Given the description of an element on the screen output the (x, y) to click on. 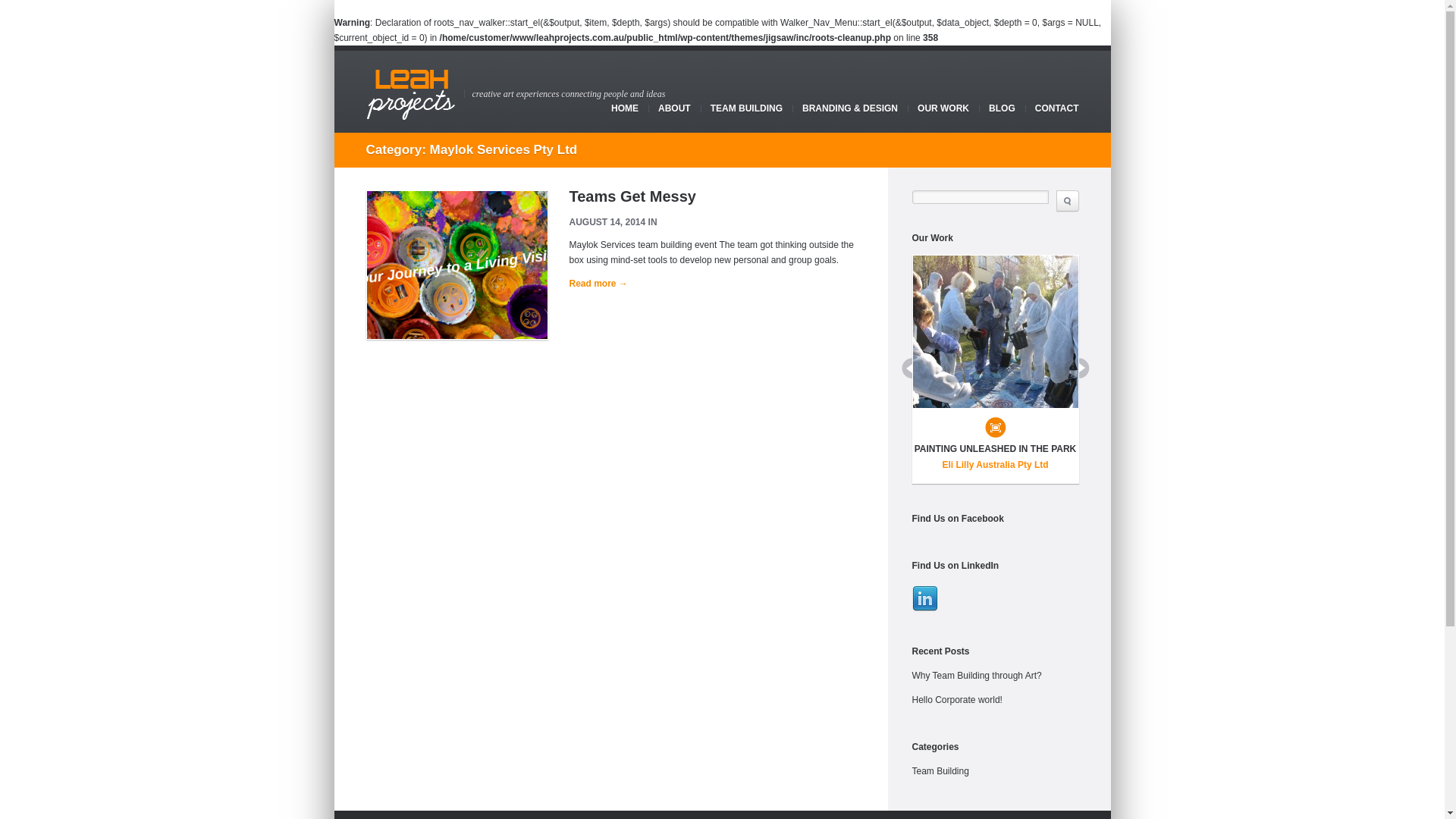
TEAM BUILDING Element type: text (746, 108)
CONTACT Element type: text (1057, 108)
Back Element type: hover (906, 368)
Search Element type: text (1066, 200)
OUR WORK Element type: text (943, 108)
Hello Corporate world! Element type: text (956, 699)
BLOG Element type: text (1001, 108)
HOME Element type: text (624, 108)
PAINTING UNLEASHED IN THE PARK Element type: text (995, 448)
Teams Get Messy Element type: hover (456, 264)
Teams Get Messy Element type: text (632, 196)
ABOUT Element type: text (674, 108)
BRANDING & DESIGN Element type: text (849, 108)
Team Building Element type: text (939, 770)
Eli Lilly Australia Pty Ltd Element type: text (995, 464)
Forward Element type: hover (1083, 368)
Why Team Building through Art? Element type: text (976, 675)
